Given the description of an element on the screen output the (x, y) to click on. 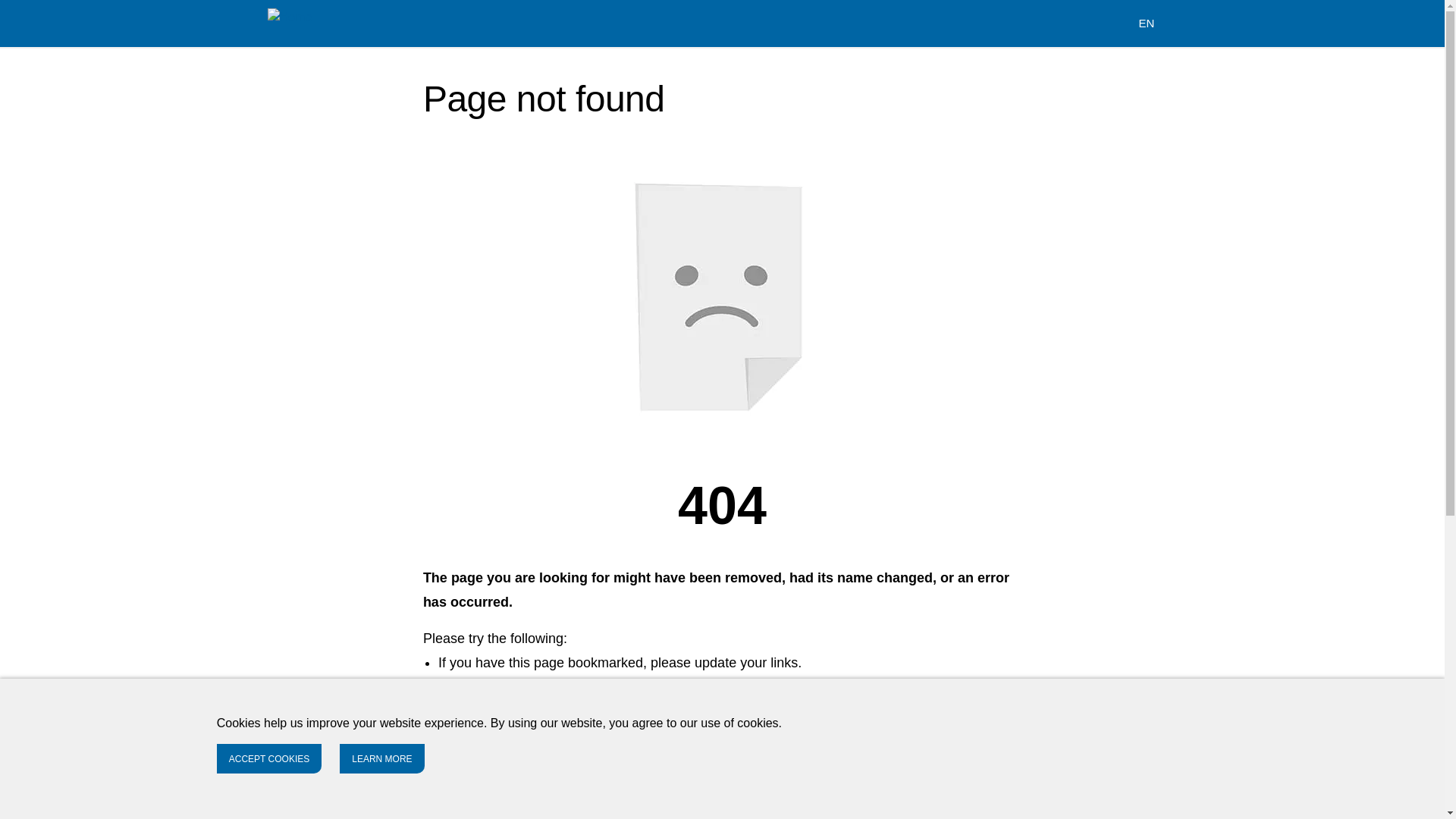
LEARN MORE (381, 758)
ACCEPT COOKIES (268, 758)
